Given the description of an element on the screen output the (x, y) to click on. 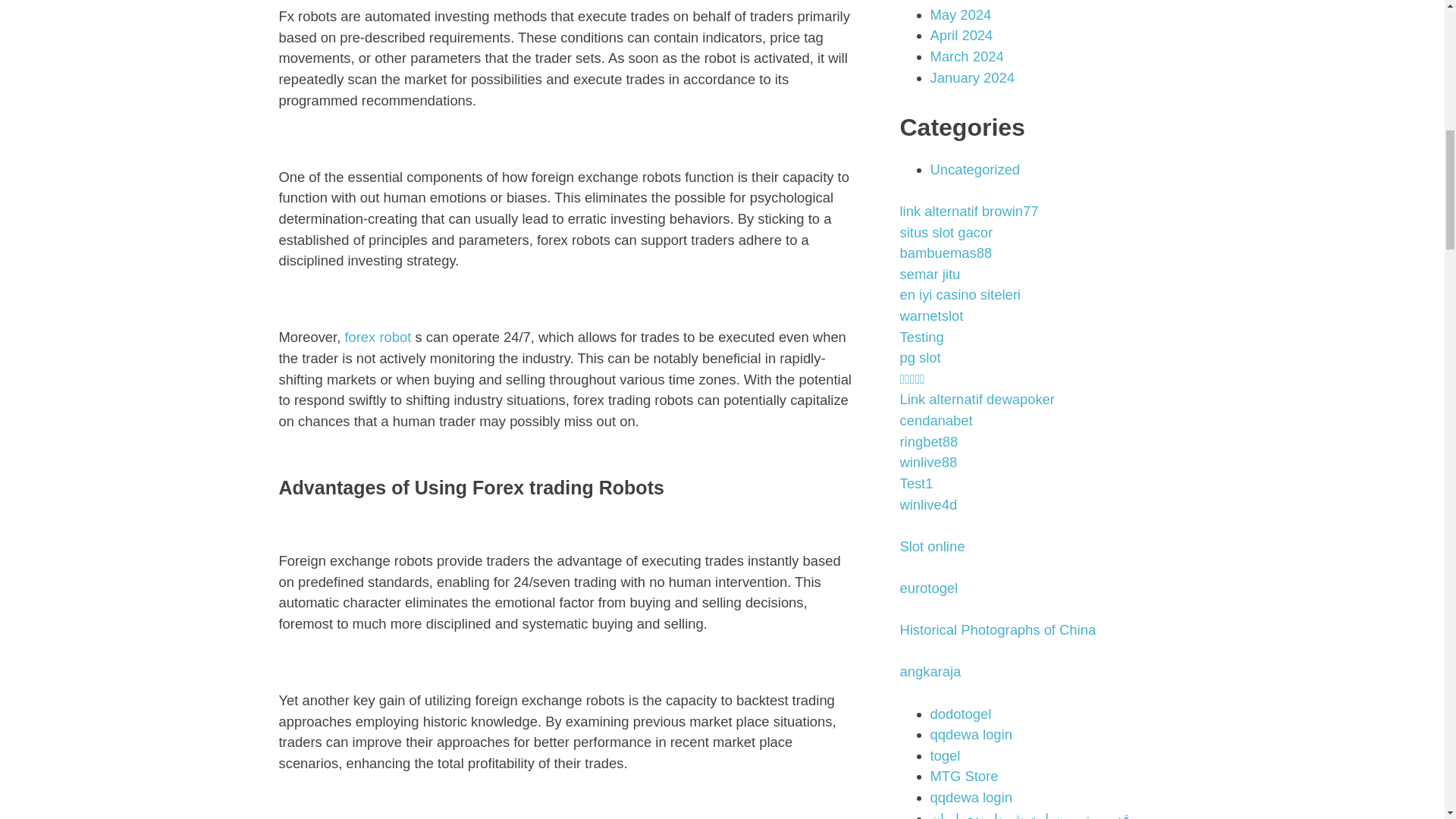
June 2024 (962, 0)
situs slot gacor (945, 232)
Uncategorized (975, 169)
April 2024 (961, 35)
Testing (921, 336)
Link alternatif dewapoker (976, 399)
link alternatif browin77 (968, 211)
January 2024 (971, 77)
pg slot (919, 357)
March 2024 (966, 56)
